Given the description of an element on the screen output the (x, y) to click on. 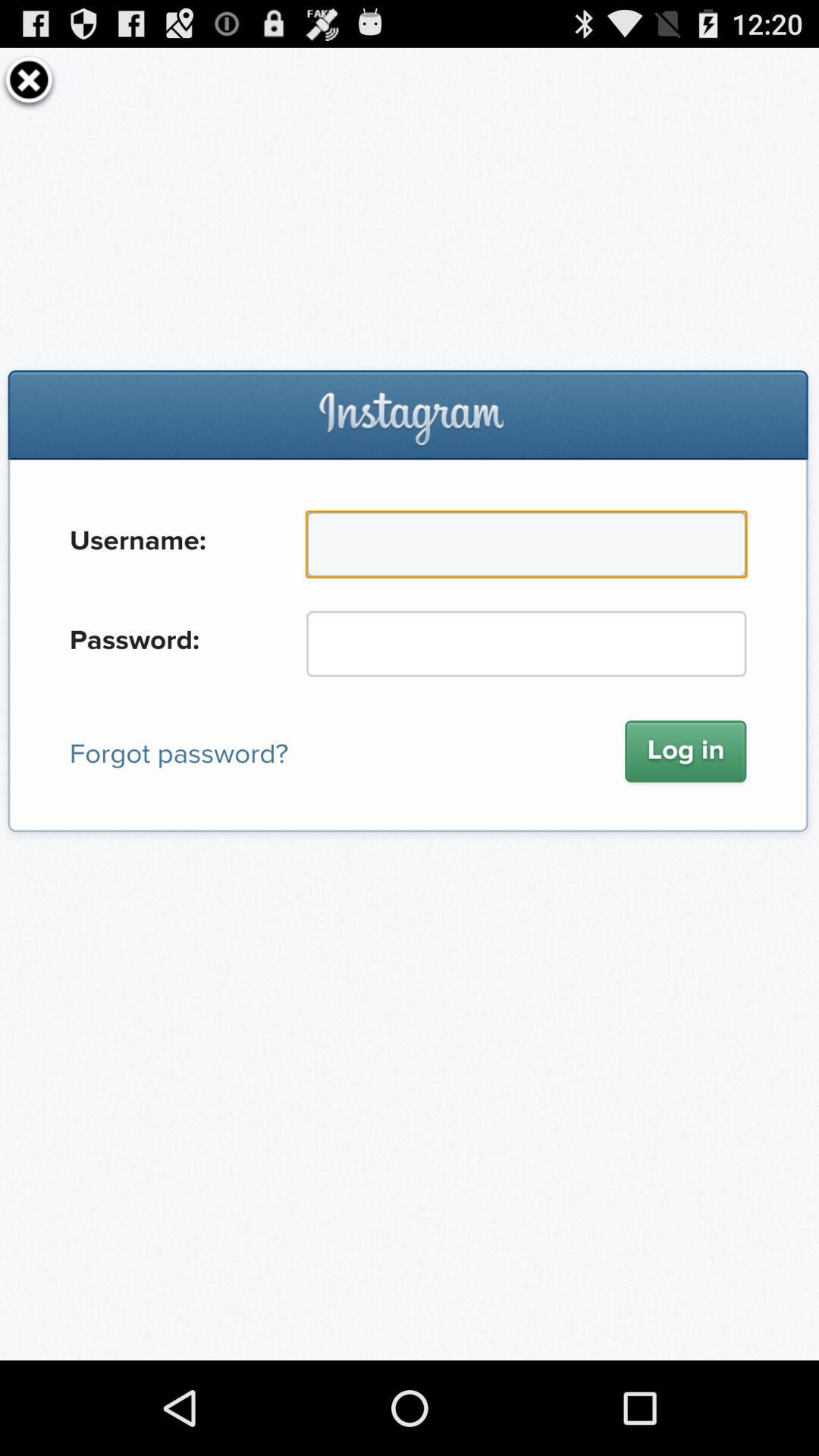
close the page (29, 79)
